Given the description of an element on the screen output the (x, y) to click on. 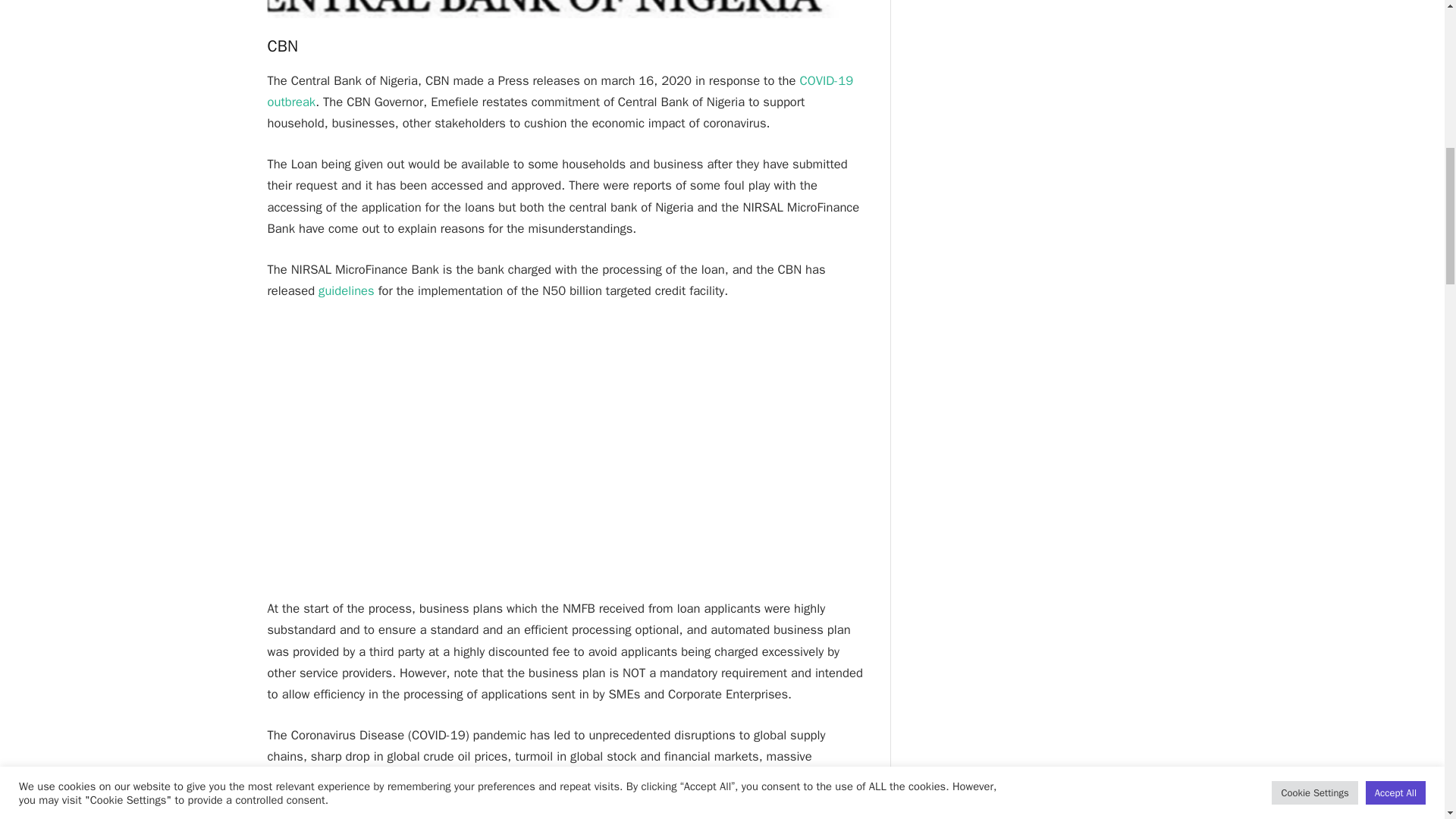
How To Access Cbn N50 Billion Coronavirus Fund (565, 9)
